Given the description of an element on the screen output the (x, y) to click on. 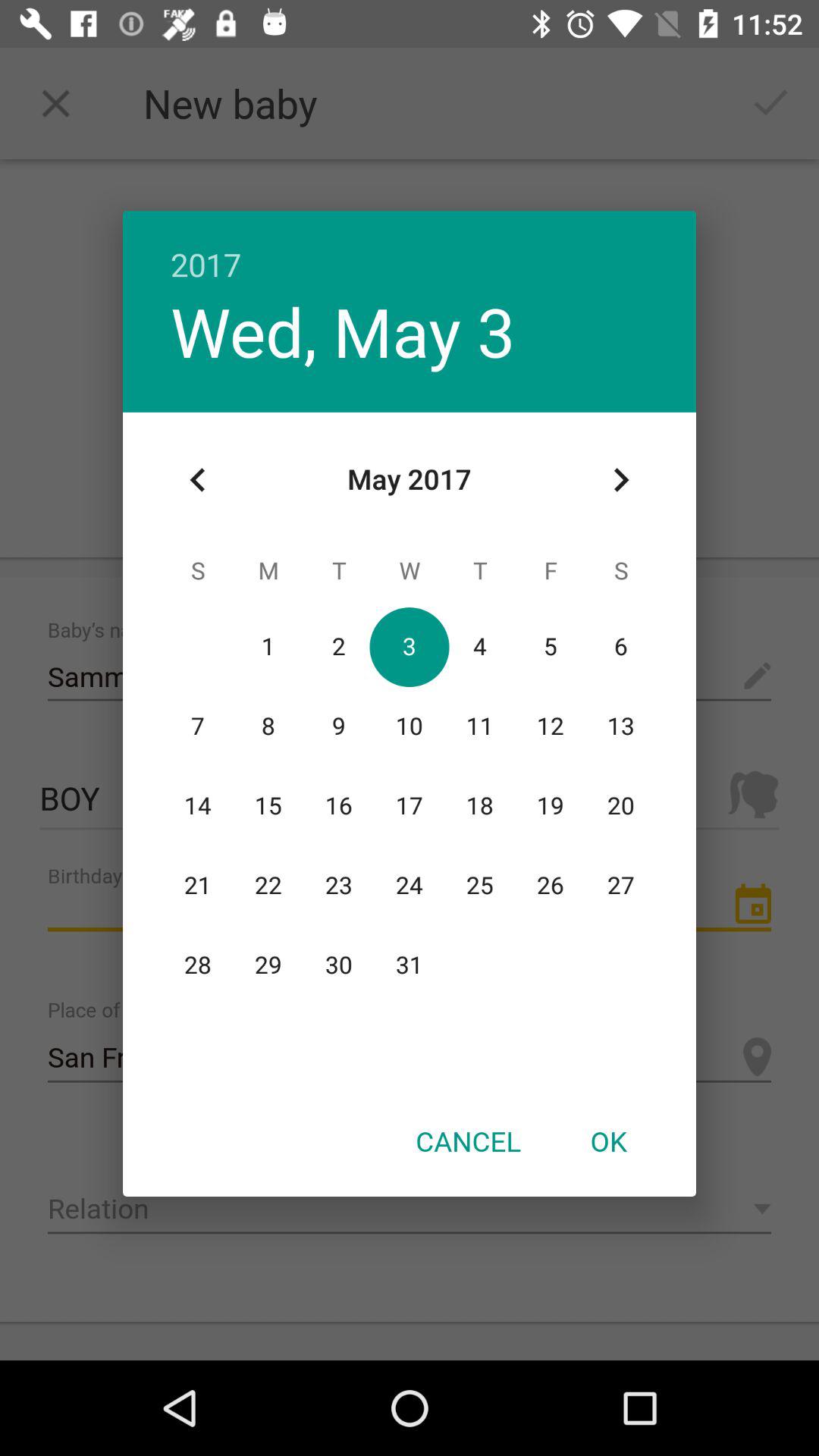
tap the icon at the bottom (467, 1140)
